Given the description of an element on the screen output the (x, y) to click on. 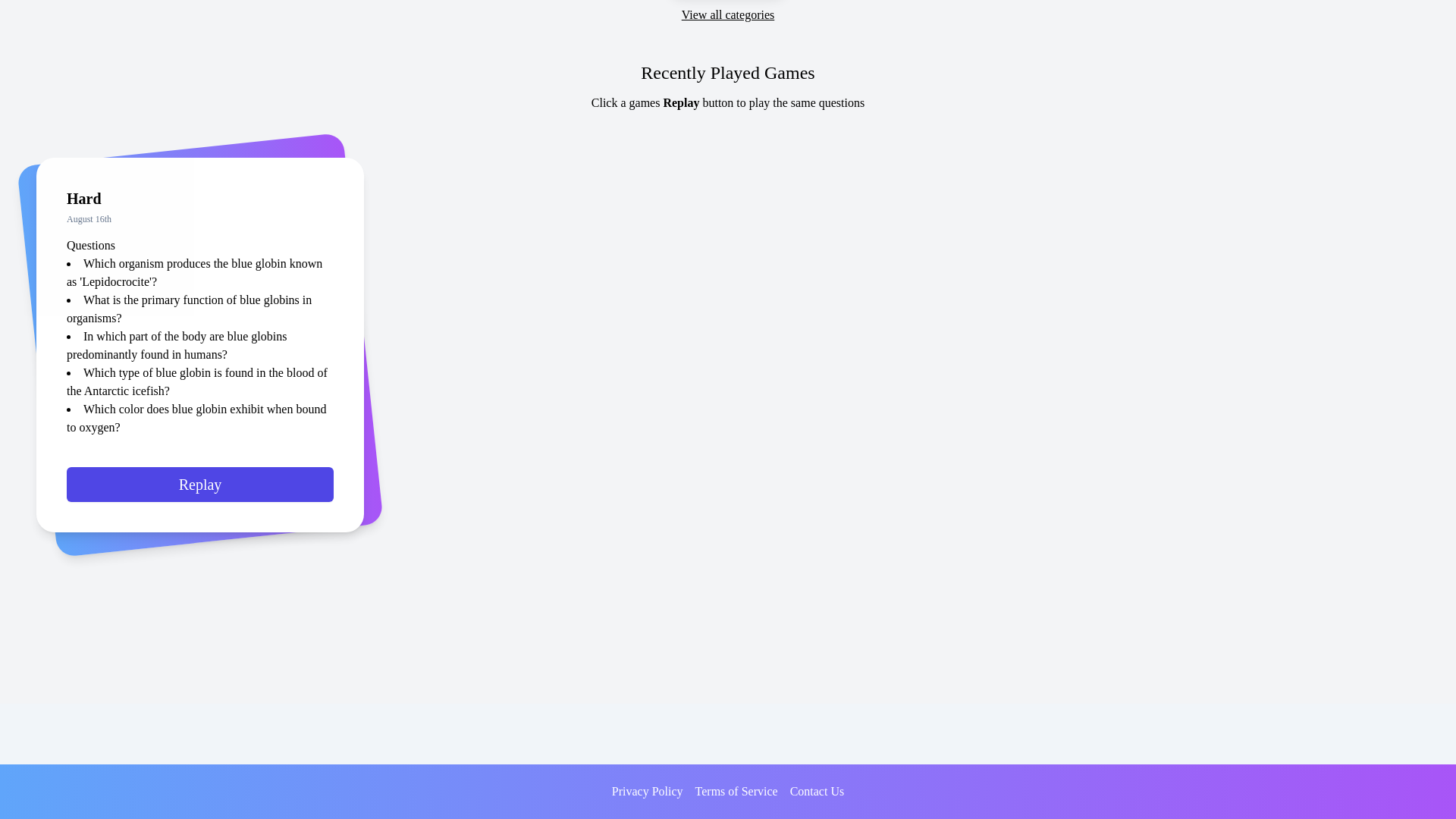
Terms of Service (736, 791)
Privacy Policy (646, 791)
Replay (199, 489)
Contact Us (817, 791)
View all categories (727, 14)
